Given the description of an element on the screen output the (x, y) to click on. 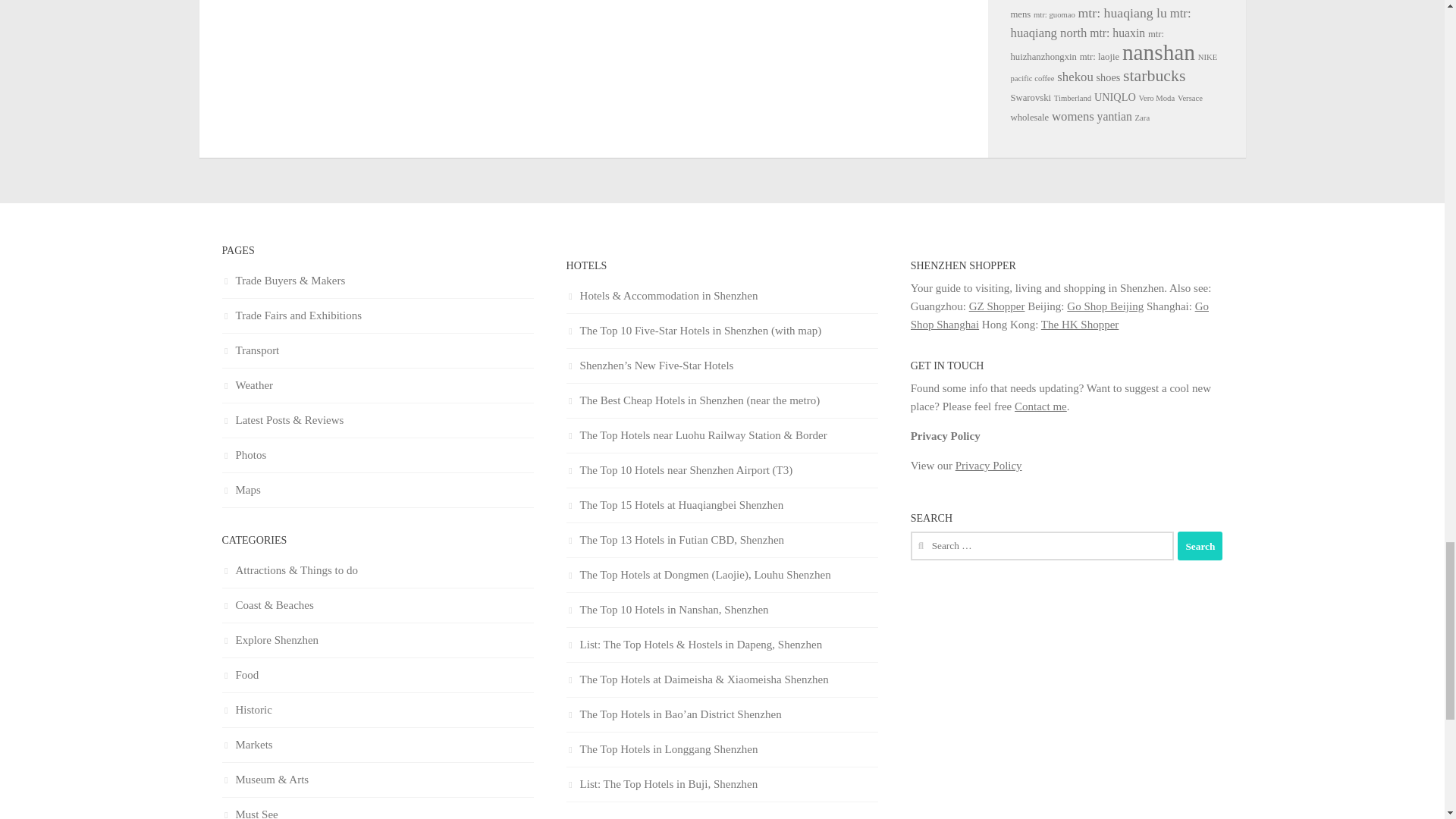
Search (1200, 545)
Search (1200, 545)
